Given the description of an element on the screen output the (x, y) to click on. 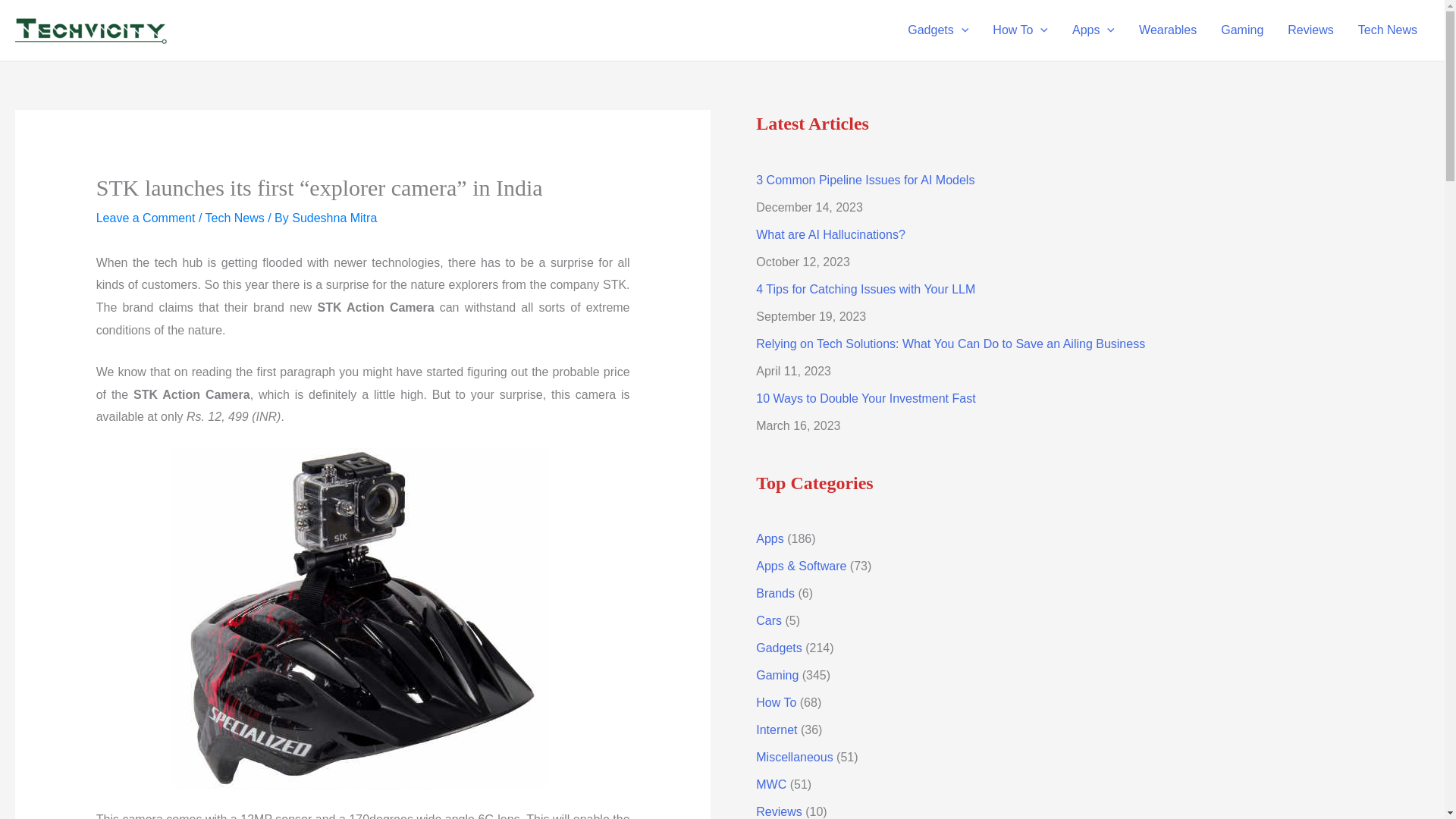
View all posts by Sudeshna Mitra (334, 217)
Apps (1092, 30)
Gadgets (937, 30)
Wearables (1167, 30)
Reviews (1310, 30)
How To (1019, 30)
Tech News (1387, 30)
Gaming (1241, 30)
